Given the description of an element on the screen output the (x, y) to click on. 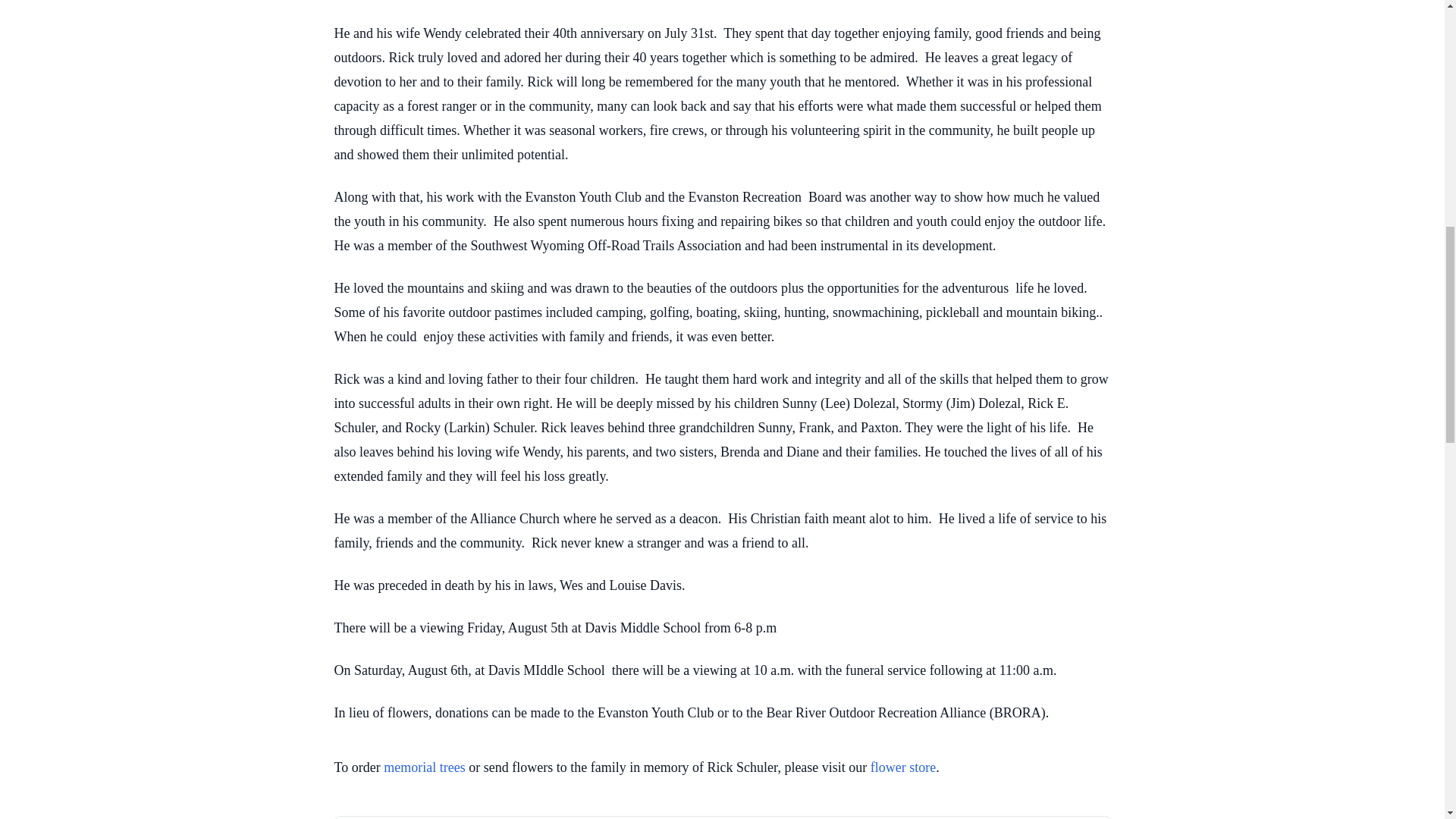
memorial trees (424, 767)
flower store (903, 767)
